Given the description of an element on the screen output the (x, y) to click on. 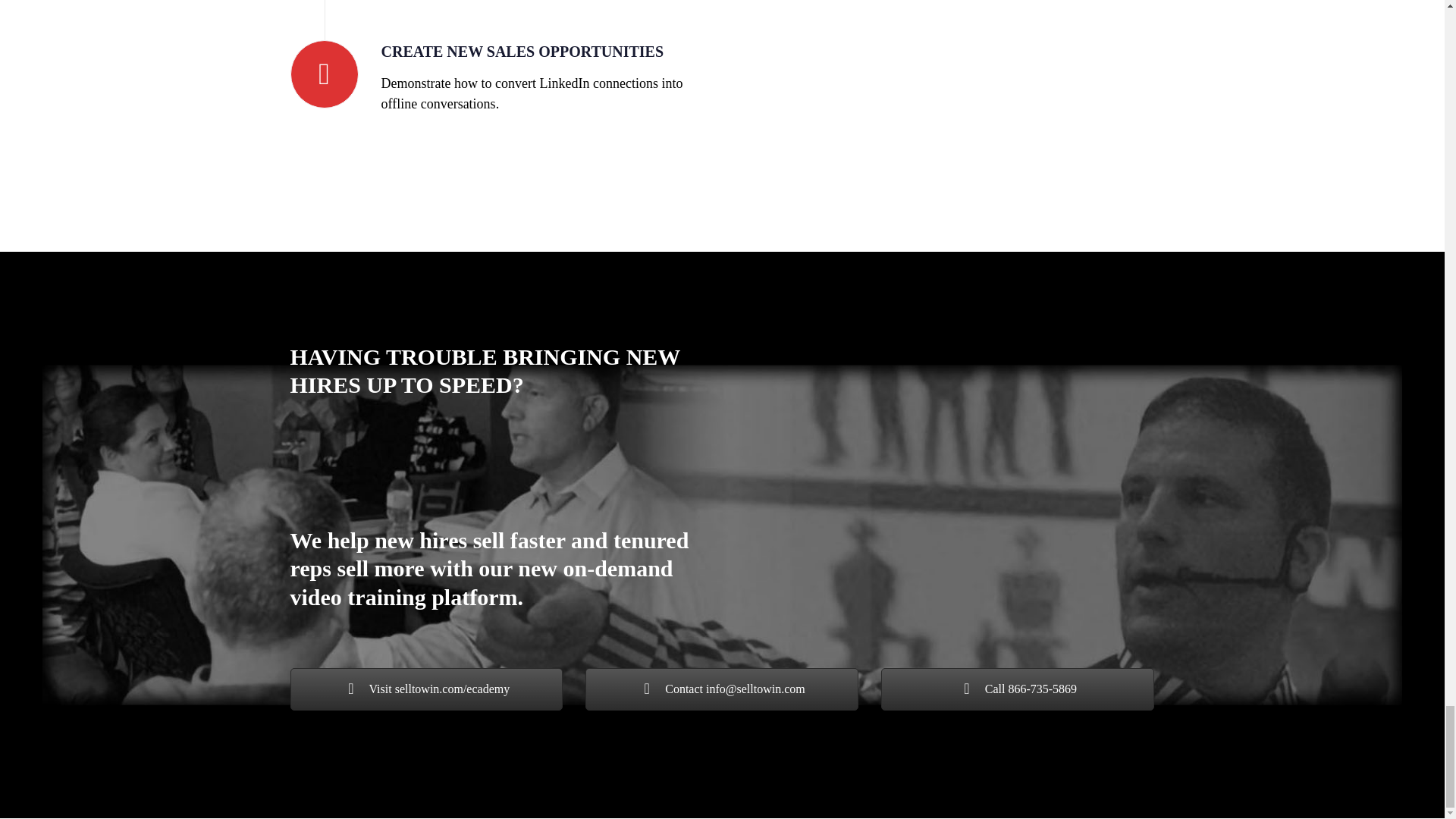
On Demand Video Courses (943, 522)
Call 866-735-5869 (1017, 689)
logo-selltowin-ecademy--light (943, 329)
